Given the description of an element on the screen output the (x, y) to click on. 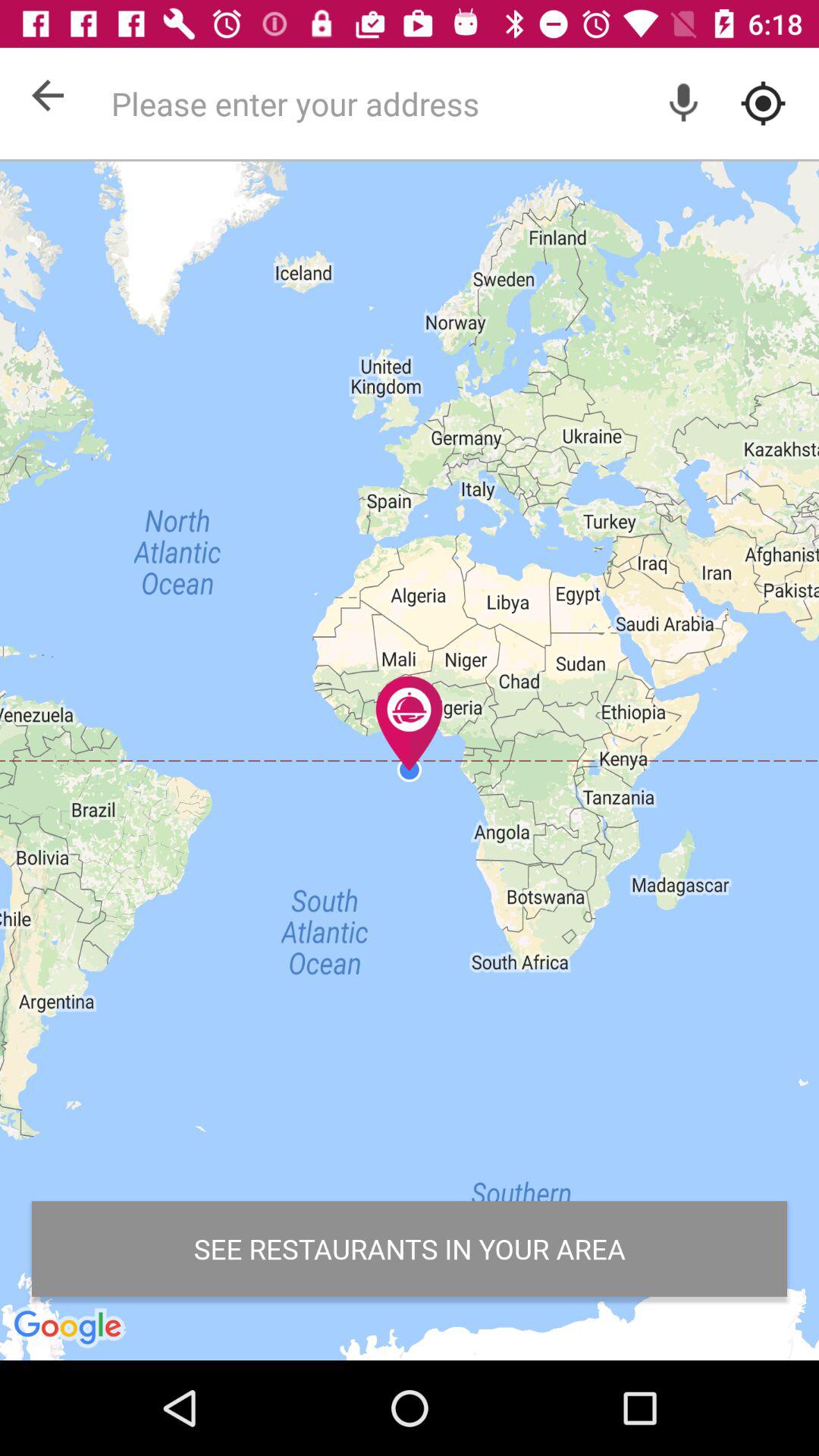
enter address (457, 103)
